Given the description of an element on the screen output the (x, y) to click on. 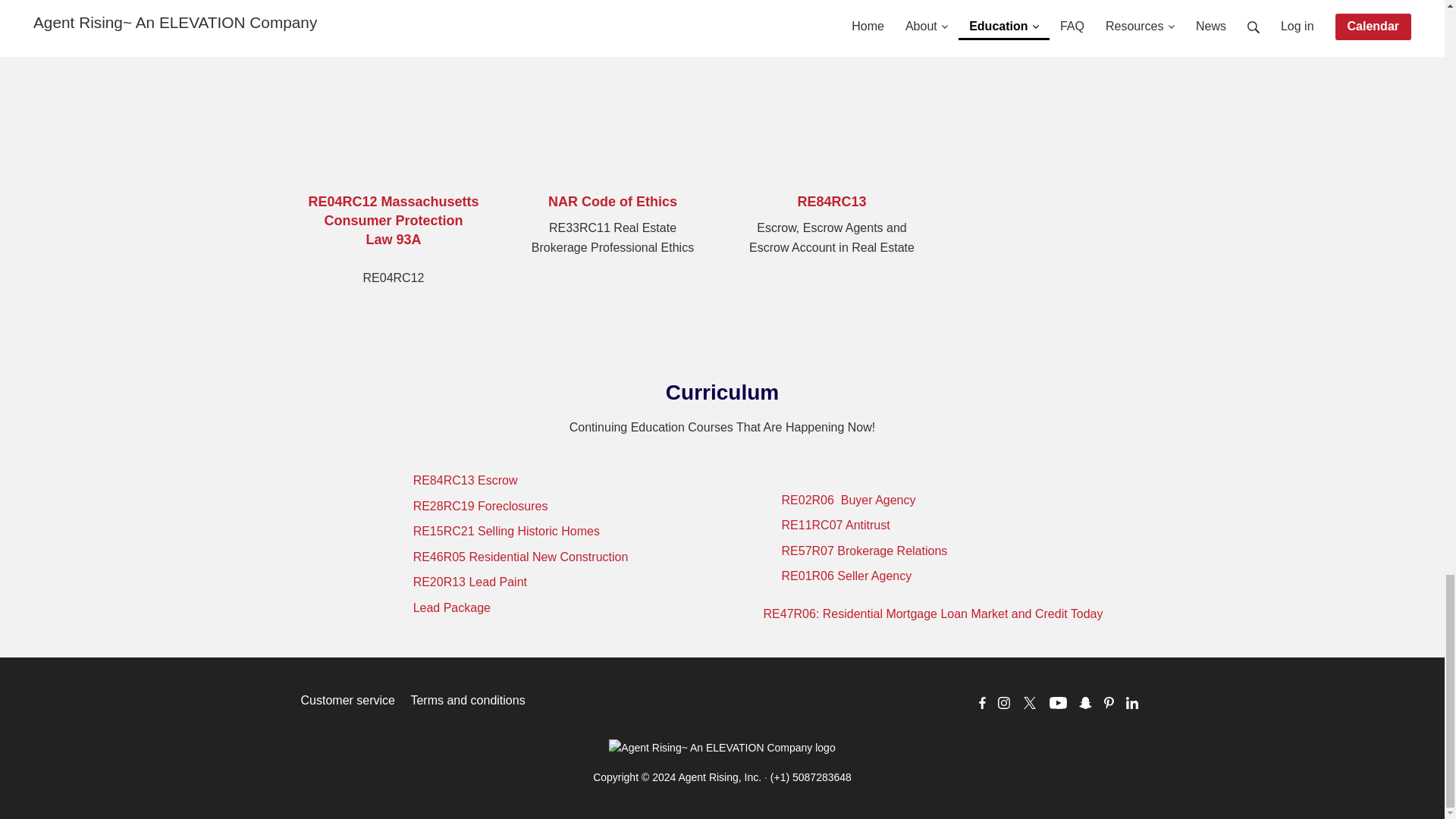
X (1029, 703)
Snapchat (1084, 703)
YouTube (1058, 703)
Instagram (1003, 703)
